Given the description of an element on the screen output the (x, y) to click on. 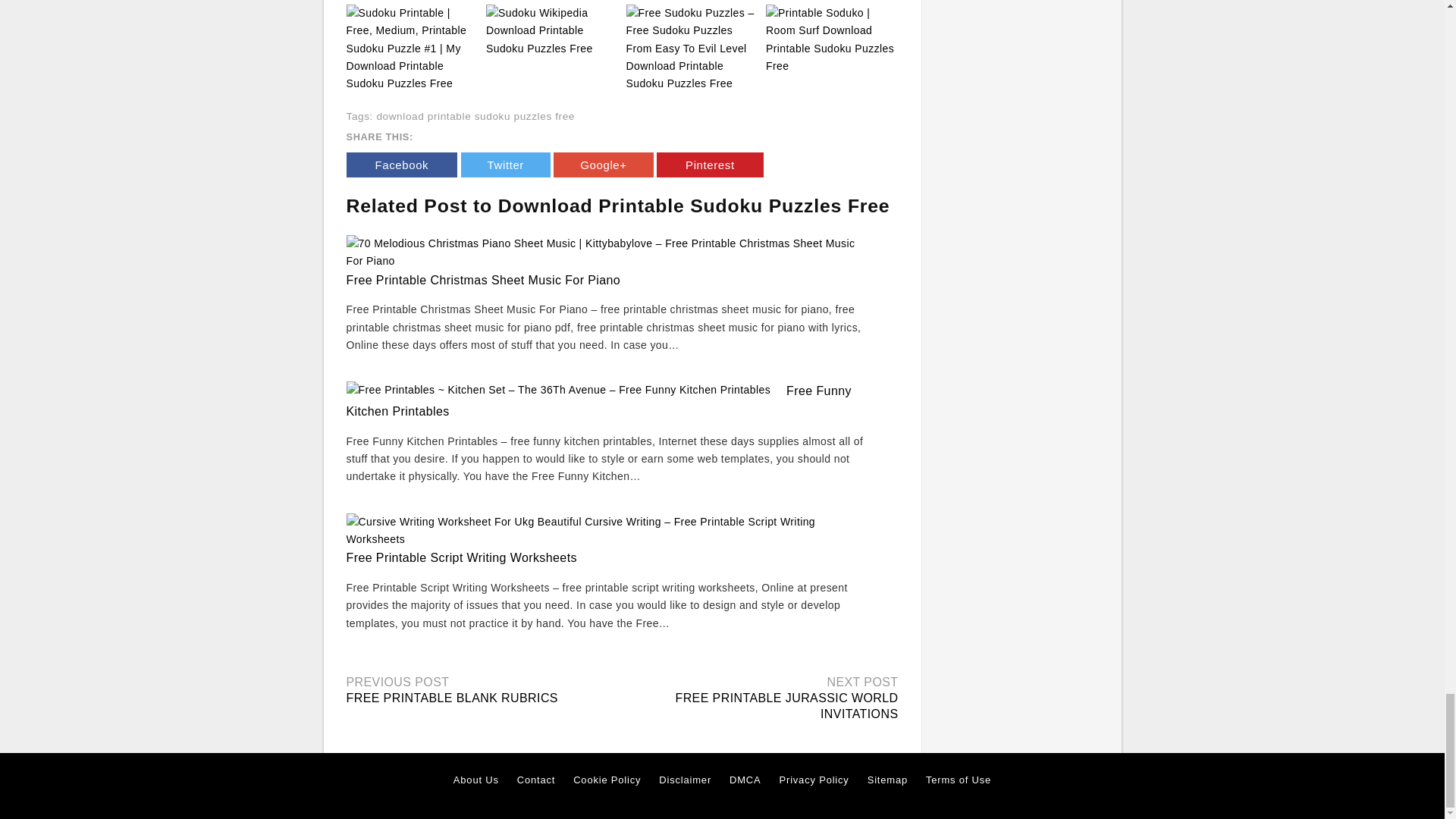
FREE PRINTABLE JURASSIC WORLD INVITATIONS (786, 705)
Twitter (505, 164)
Pinterest (709, 164)
Free Printable Script Writing Worksheets (461, 557)
Free Funny Kitchen Printables (598, 400)
FREE PRINTABLE BLANK RUBRICS (451, 697)
Facebook (401, 164)
Free Printable Christmas Sheet Music For Piano (483, 279)
download printable sudoku puzzles free (475, 116)
